Given the description of an element on the screen output the (x, y) to click on. 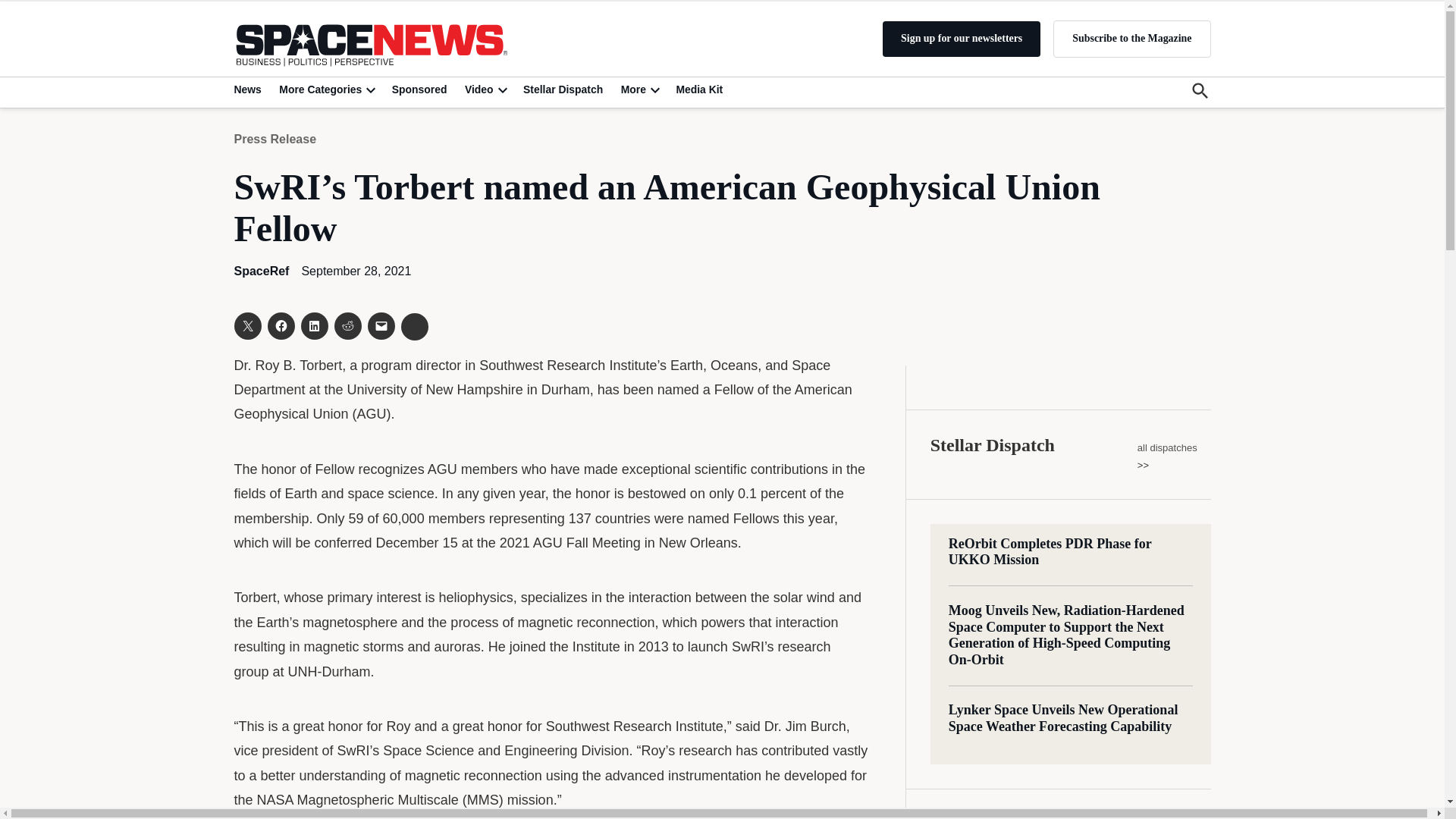
Click to email a link to a friend (380, 325)
Subscribe to the Magazine (1130, 38)
Click to share on LinkedIn (313, 325)
Sign up for our newsletters (961, 38)
Click to share on Reddit (347, 325)
Click to share on Facebook (280, 325)
Click to share on Clipboard (414, 326)
Click to share on X (246, 325)
